Given the description of an element on the screen output the (x, y) to click on. 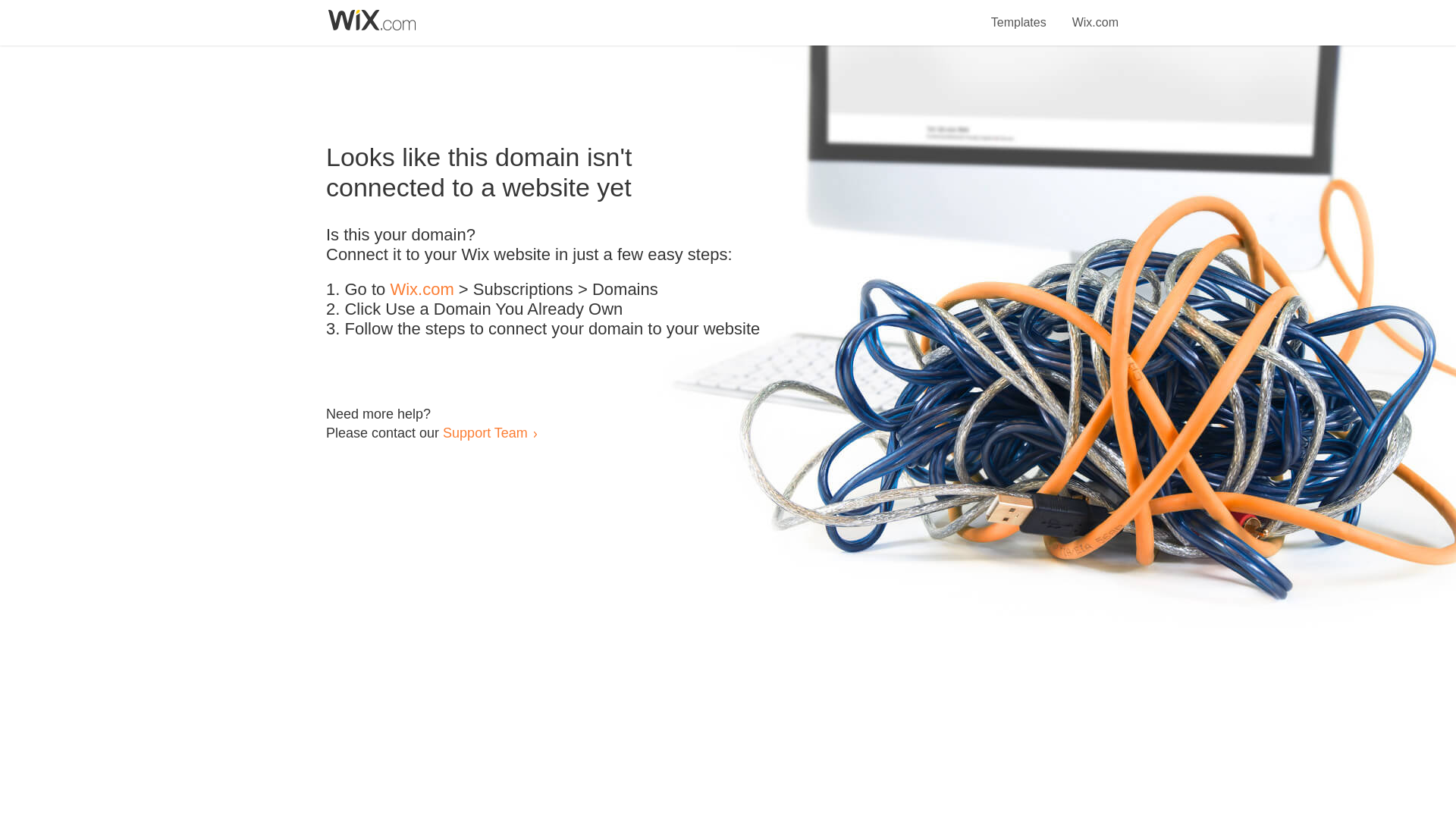
Wix.com (421, 289)
Templates (1018, 14)
Wix.com (1095, 14)
Support Team (484, 432)
